Given the description of an element on the screen output the (x, y) to click on. 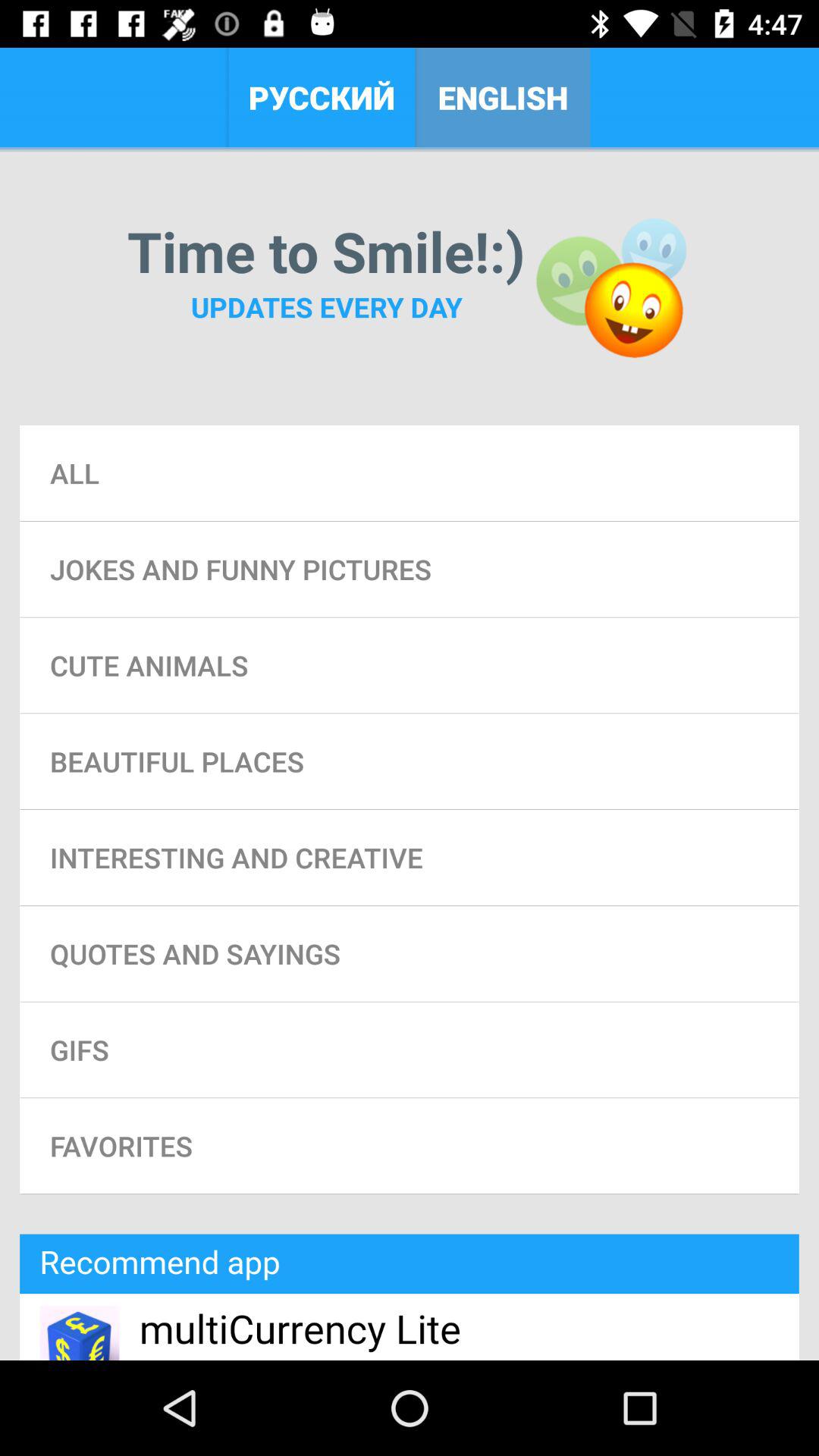
open icon next to the english item (321, 97)
